Given the description of an element on the screen output the (x, y) to click on. 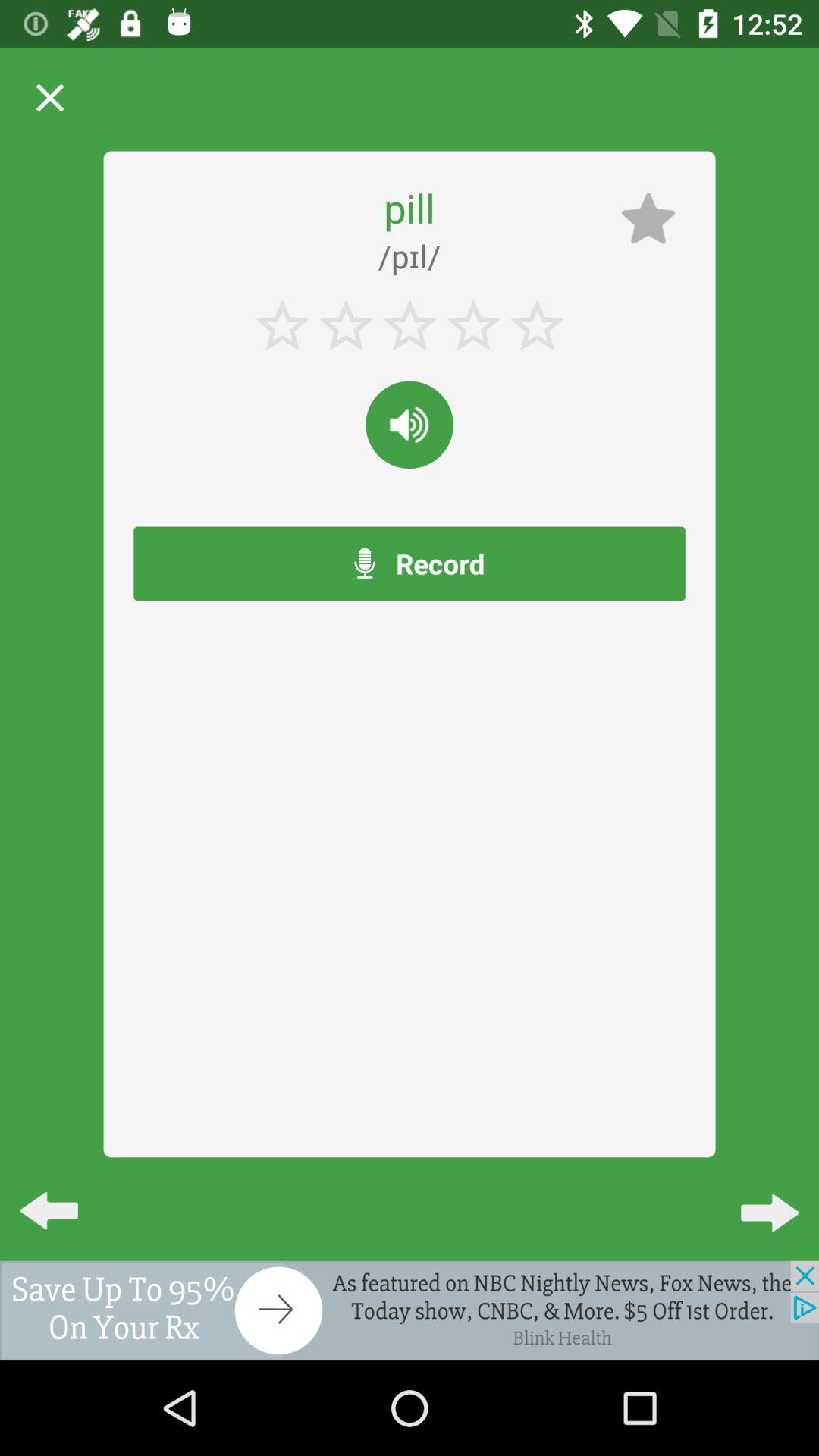
play the word (409, 424)
